Given the description of an element on the screen output the (x, y) to click on. 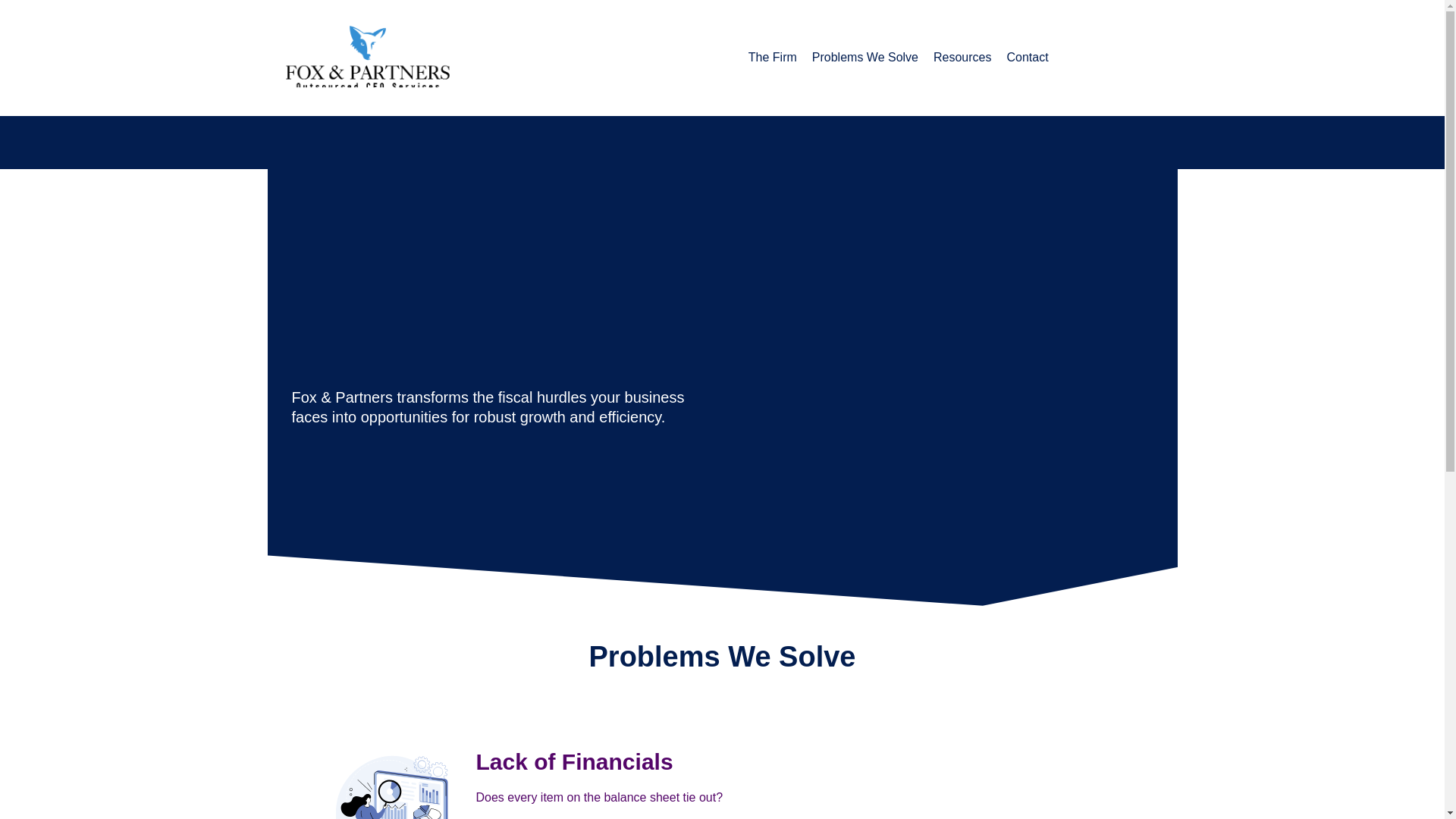
Contact (1026, 57)
The Firm (773, 57)
Problems We Solve (865, 57)
Resources (962, 57)
